Given the description of an element on the screen output the (x, y) to click on. 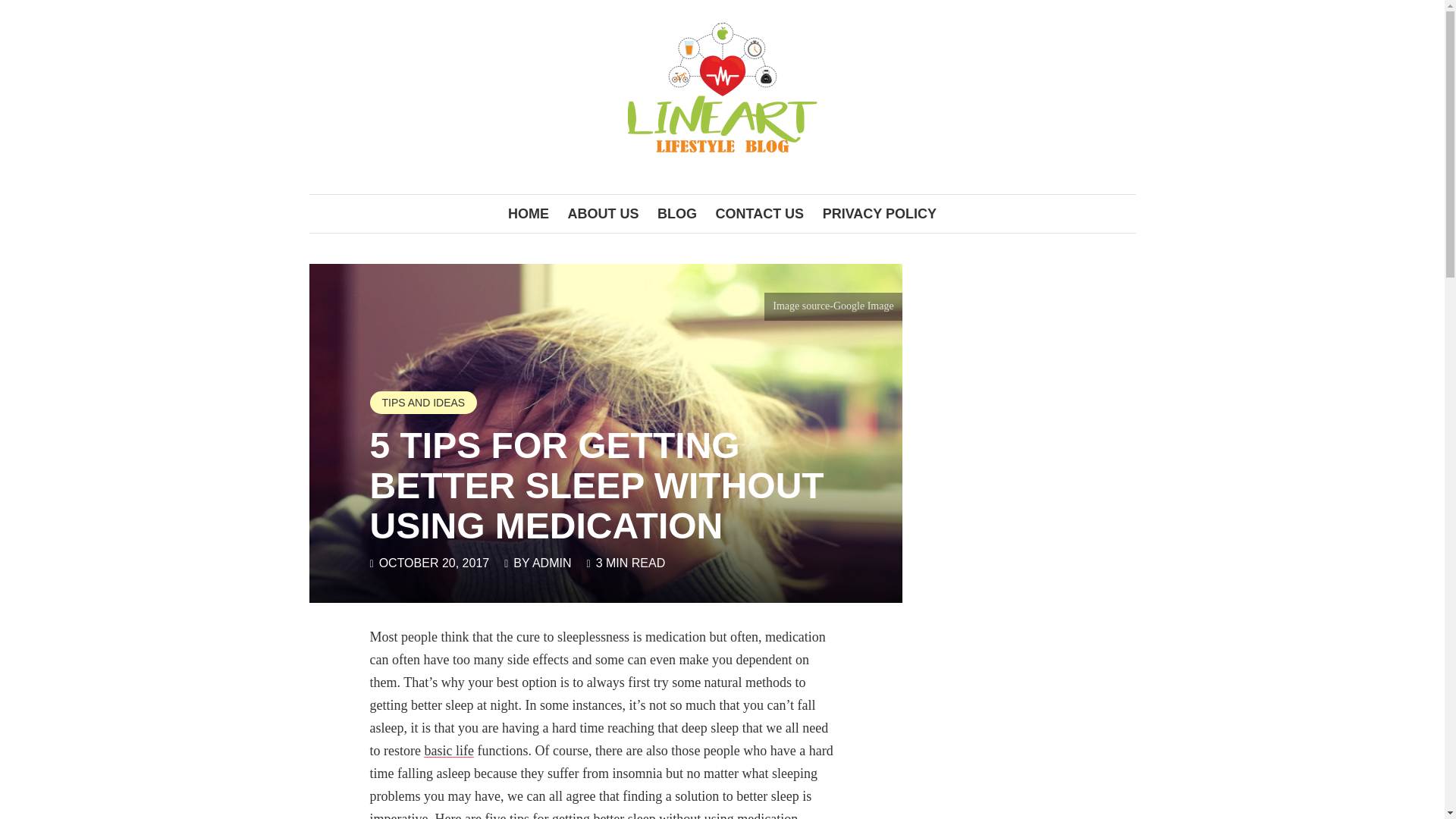
CONTACT US (758, 213)
PRIVACY POLICY (879, 213)
ABOUT US (602, 213)
TIPS AND IDEAS (423, 402)
BLOG (676, 213)
ADMIN (552, 562)
basic life (448, 750)
HOME (528, 213)
